Given the description of an element on the screen output the (x, y) to click on. 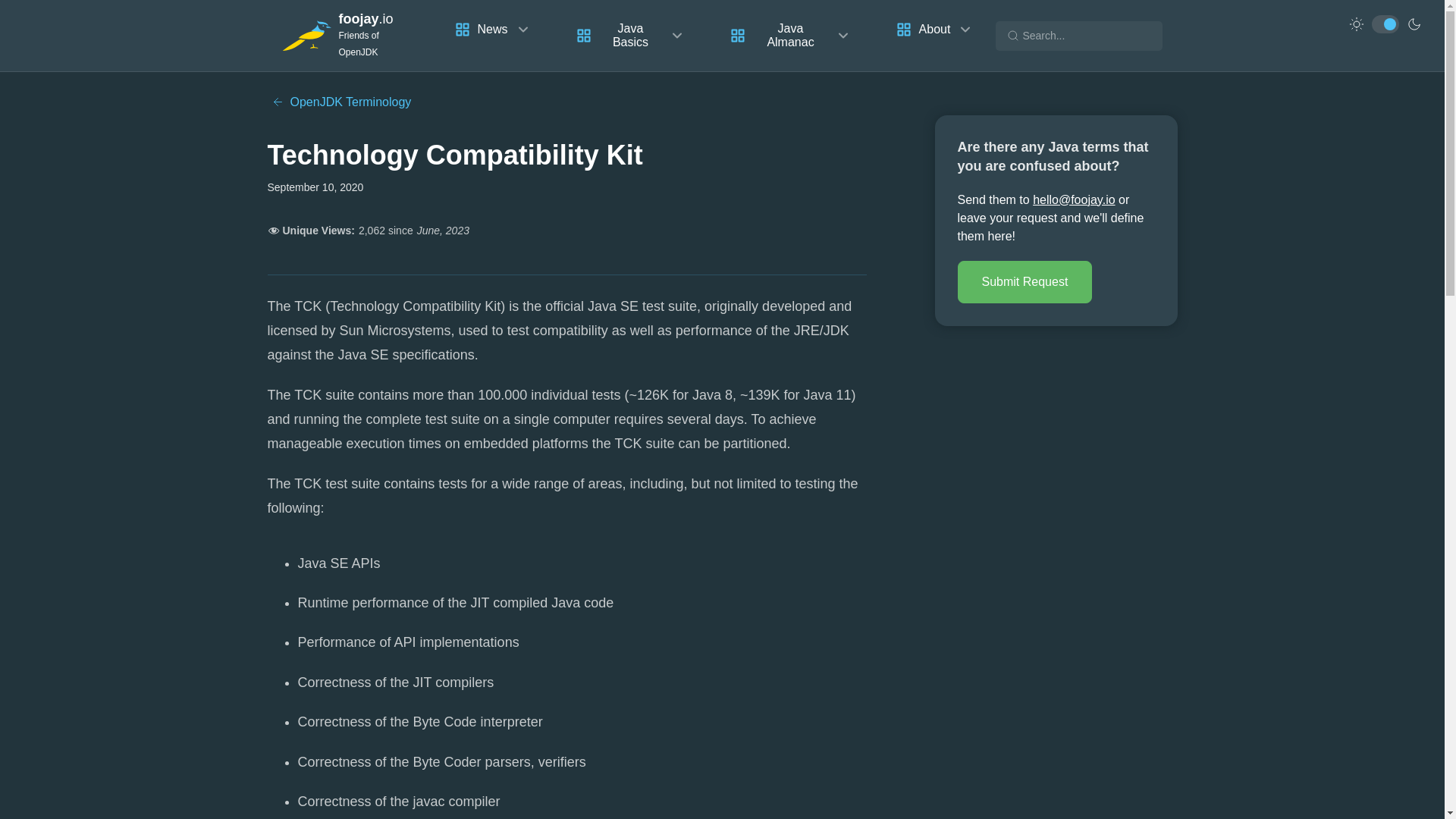
Java Almanac (789, 35)
Java Basics (630, 35)
About (934, 29)
Submit Request (1024, 282)
News (492, 29)
OpenJDK Terminology (338, 101)
